Given the description of an element on the screen output the (x, y) to click on. 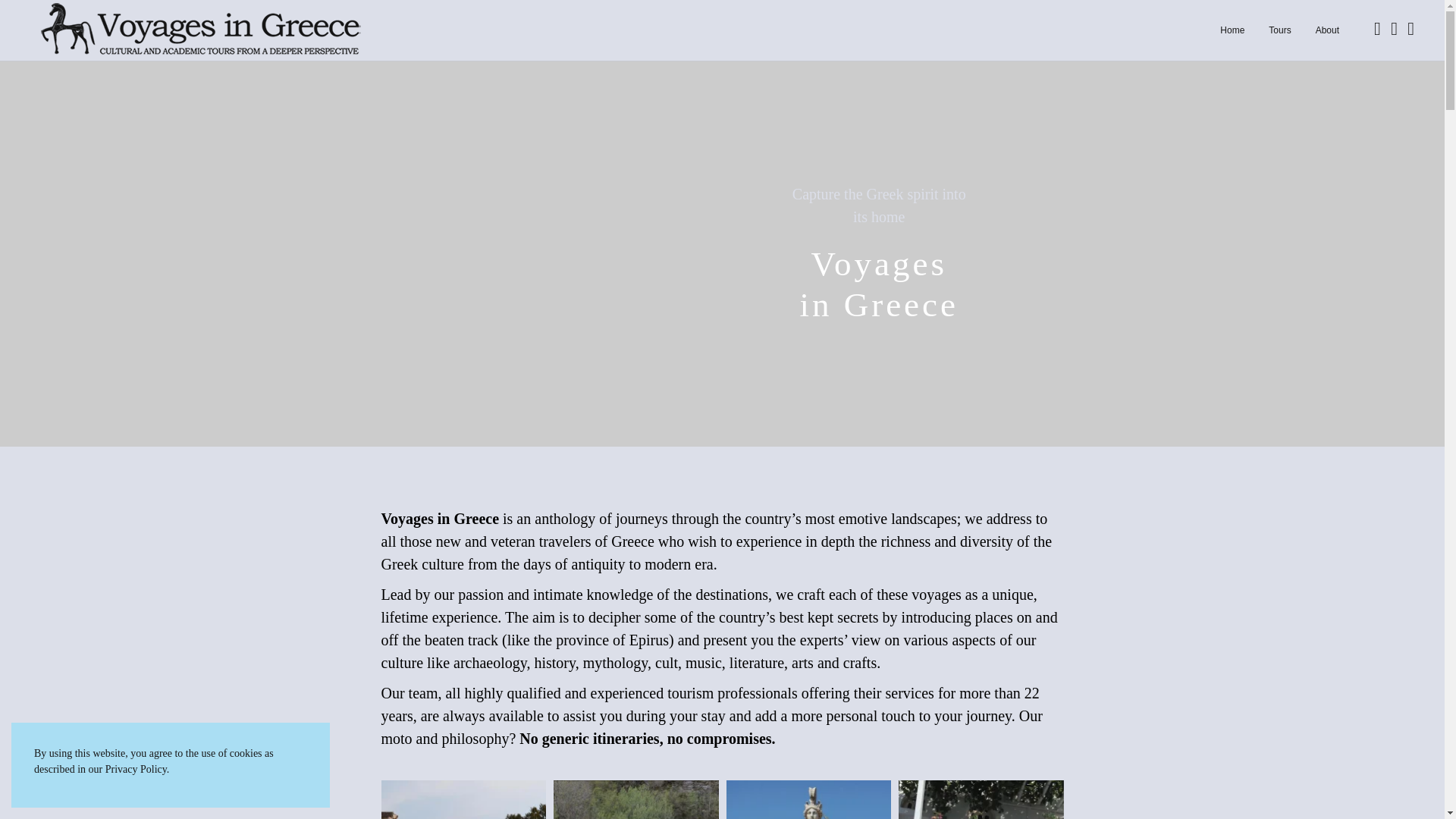
Home (878, 205)
About (1232, 30)
Tours (1327, 30)
